Given the description of an element on the screen output the (x, y) to click on. 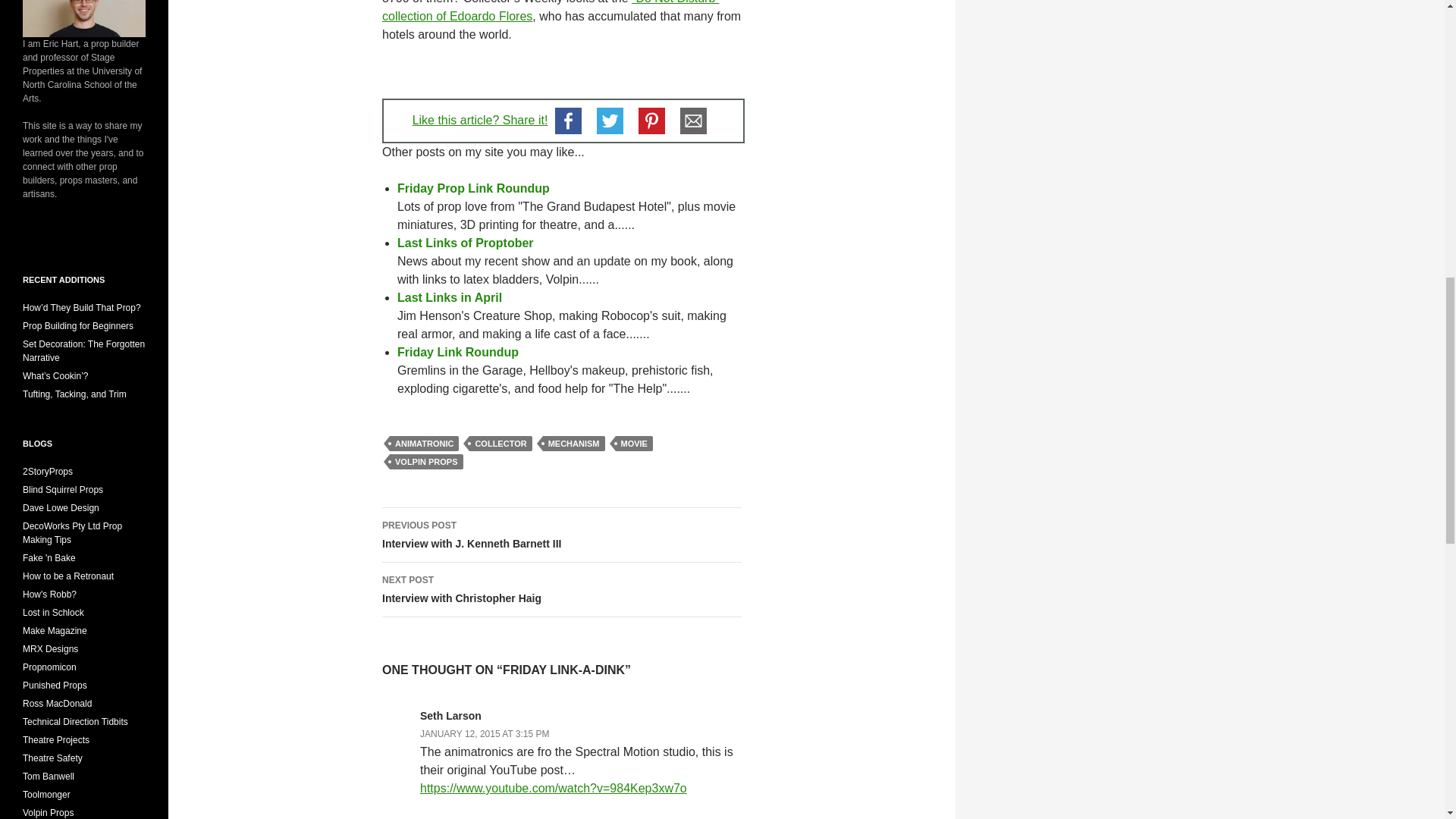
Friday Link Roundup (457, 351)
Like this article? Share it! (480, 119)
twitter (609, 120)
Last Links in April (449, 297)
Friday Prop Link Roundup (473, 187)
Last Links of Proptober (465, 242)
JANUARY 12, 2015 AT 3:15 PM (485, 733)
pinterest (651, 120)
COLLECTOR (499, 443)
MOVIE (633, 443)
Last Links of Proptober (465, 242)
MECHANISM (561, 589)
Friday Link Roundup (574, 443)
ANIMATRONIC (457, 351)
